Given the description of an element on the screen output the (x, y) to click on. 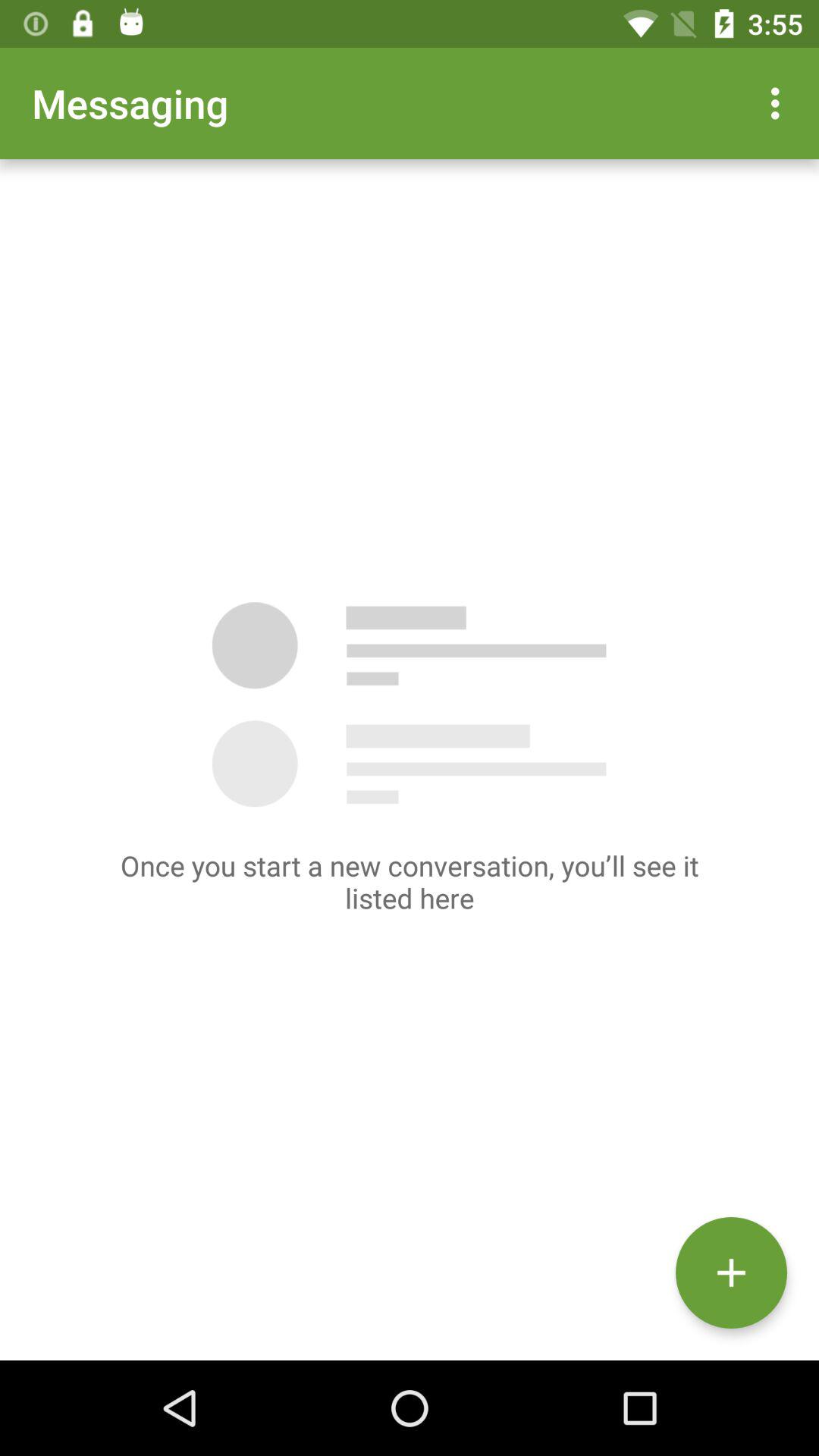
choose icon to the right of the messaging (779, 103)
